Given the description of an element on the screen output the (x, y) to click on. 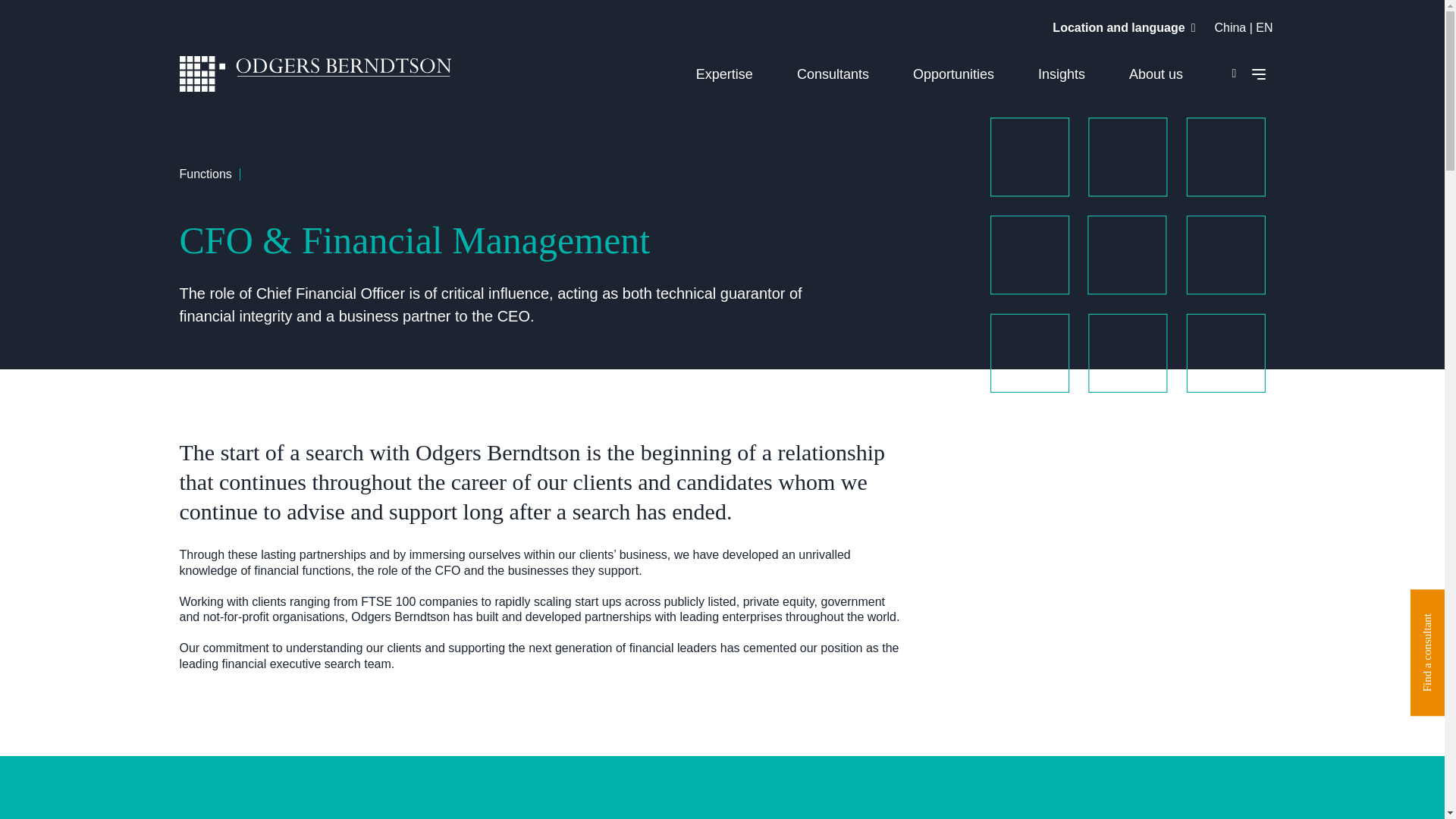
Expertise (724, 74)
Odgers berndtson (314, 75)
Expertise (724, 74)
